Given the description of an element on the screen output the (x, y) to click on. 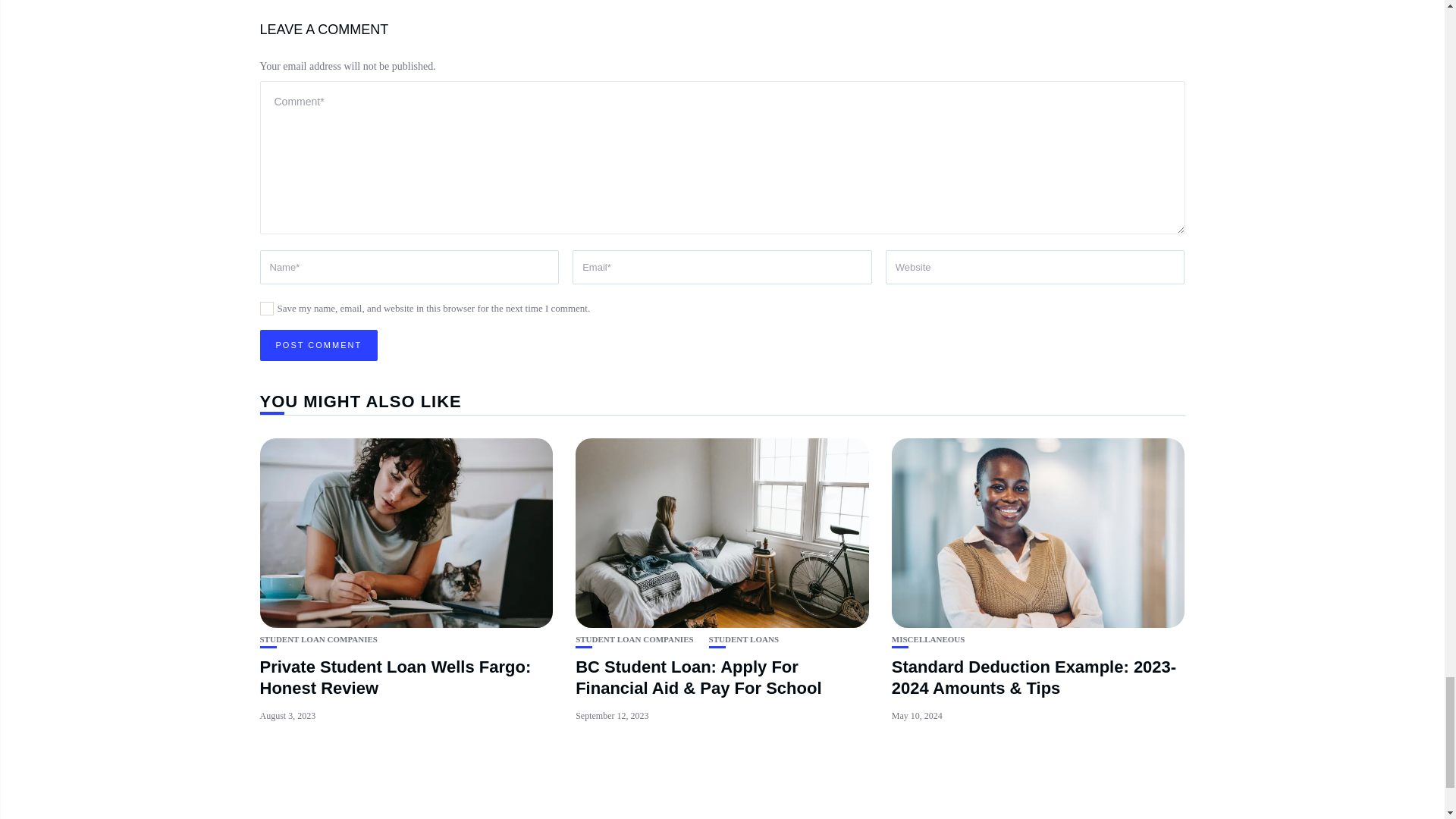
Private Student Loan Wells Fargo: Honest Review (395, 677)
STUDENT LOANS (743, 639)
STUDENT LOAN COMPANIES (634, 639)
Post Comment (318, 345)
STUDENT LOAN COMPANIES (318, 639)
yes (266, 308)
Post Comment (318, 345)
